Given the description of an element on the screen output the (x, y) to click on. 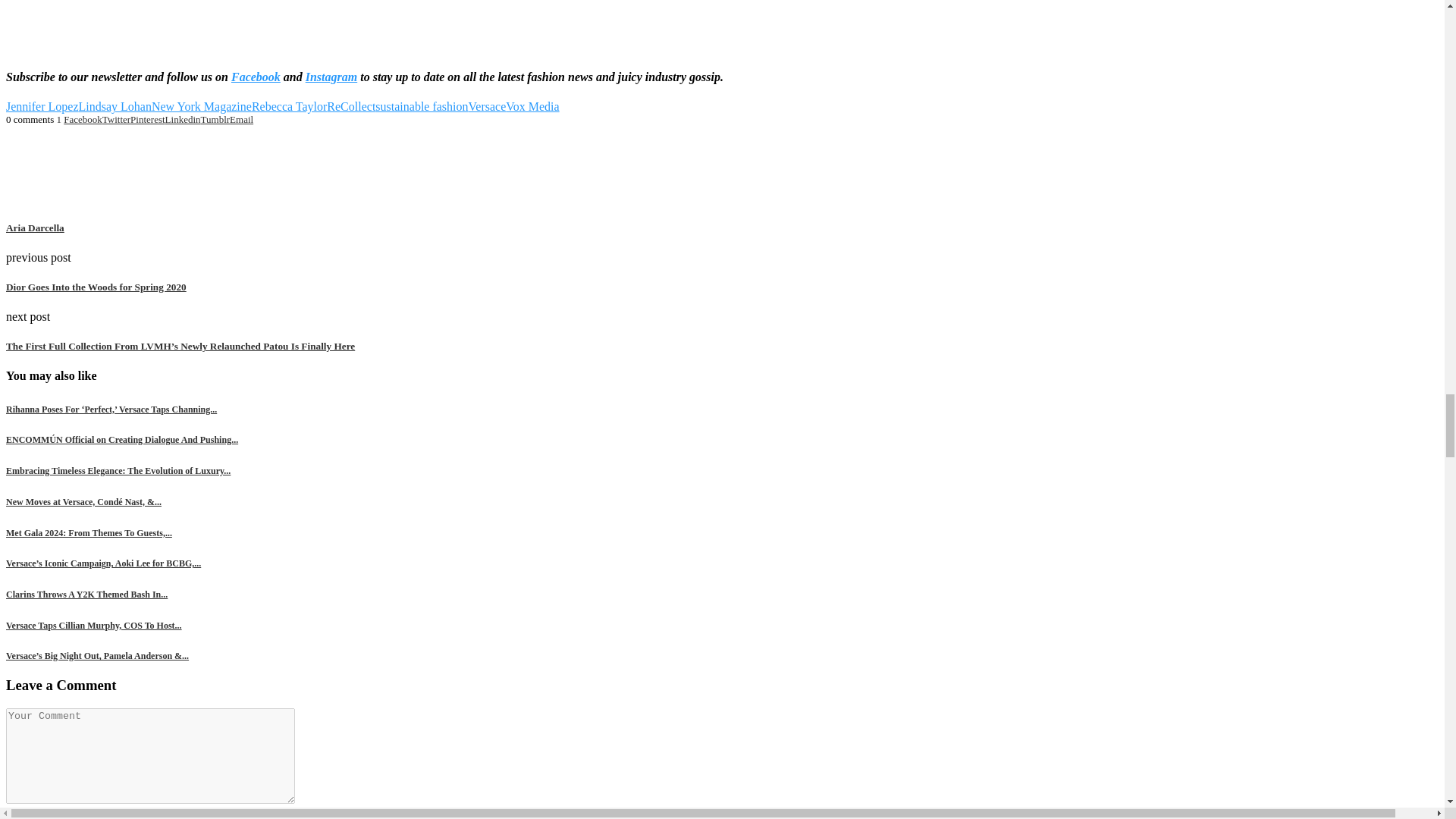
Instagram (330, 76)
sustainable fashion (421, 106)
ReCollect (350, 106)
Facebook (256, 76)
Facebook (82, 119)
Vox Media (532, 106)
Rebecca Taylor (288, 106)
Author Aria Darcella (34, 227)
Lindsay Lohan (114, 106)
Twitter (116, 119)
